Given the description of an element on the screen output the (x, y) to click on. 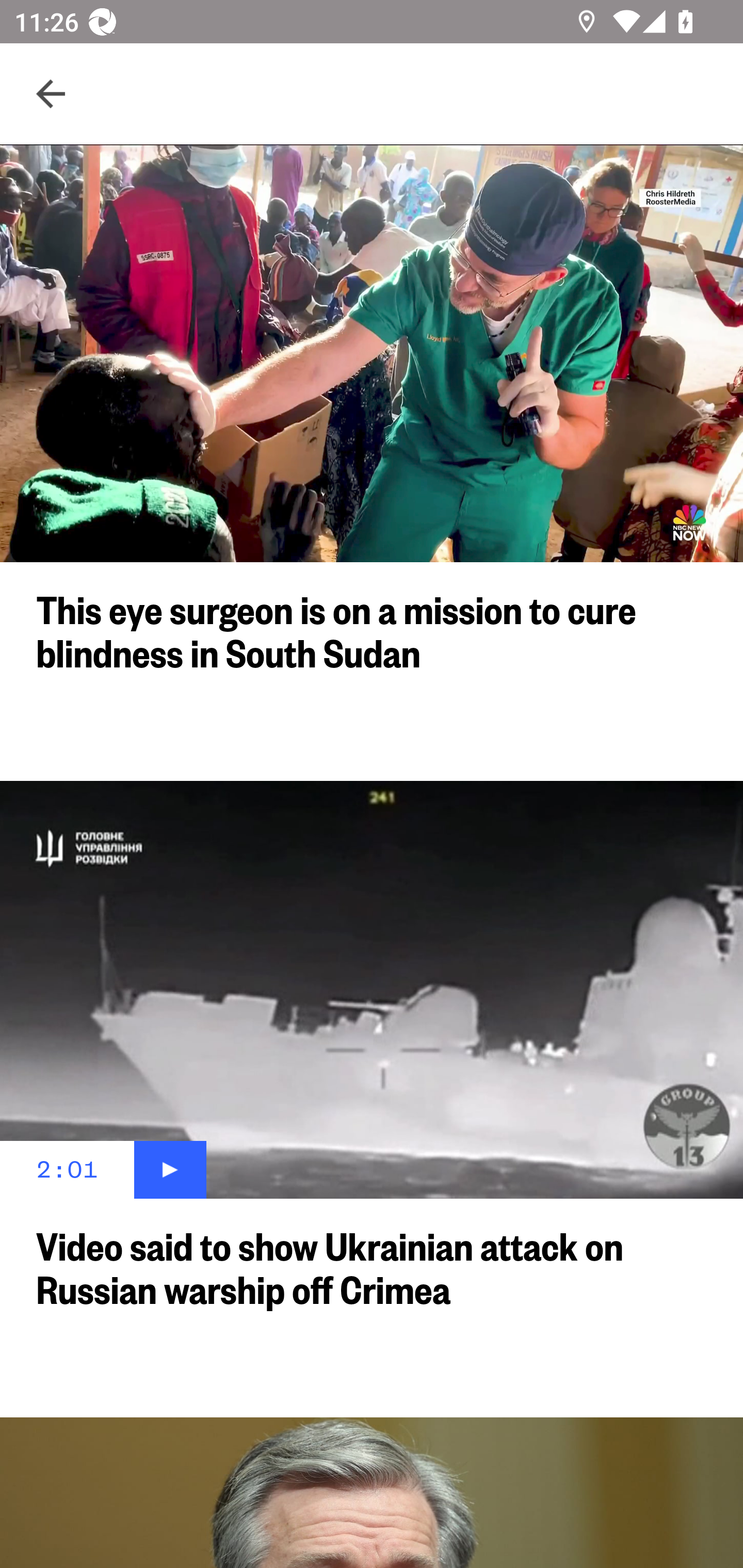
Navigate up (50, 93)
